Given the description of an element on the screen output the (x, y) to click on. 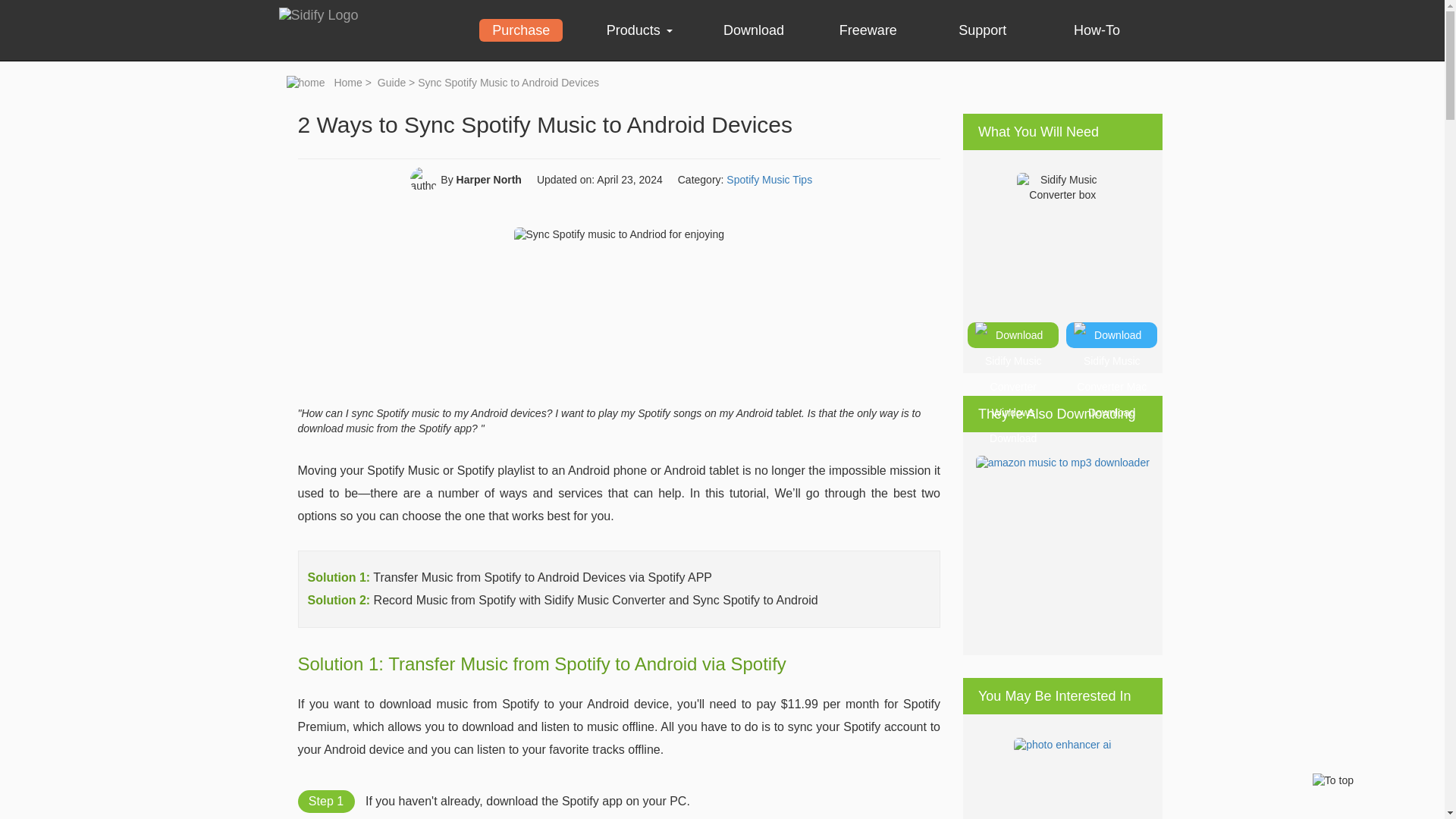
Freeware (868, 30)
Support (982, 30)
Download (753, 30)
Products (639, 30)
Purchase (520, 29)
